Given the description of an element on the screen output the (x, y) to click on. 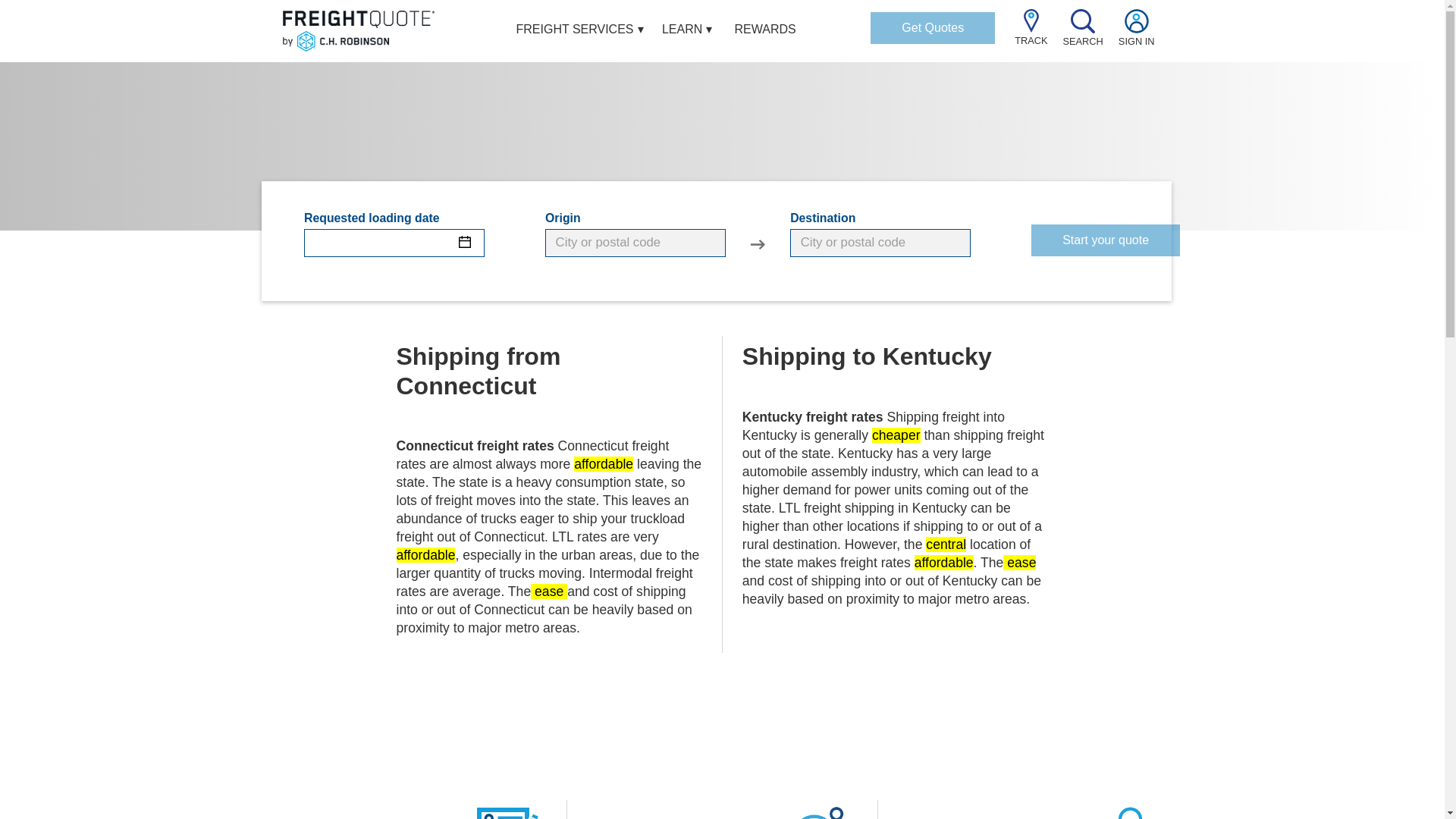
SIGN IN (1136, 34)
SEARCH (1082, 34)
Start your quote (1104, 240)
REWARDS (765, 31)
Get Quotes (932, 28)
TRACK (1030, 34)
FREIGHT SERVICES (574, 31)
